Given the description of an element on the screen output the (x, y) to click on. 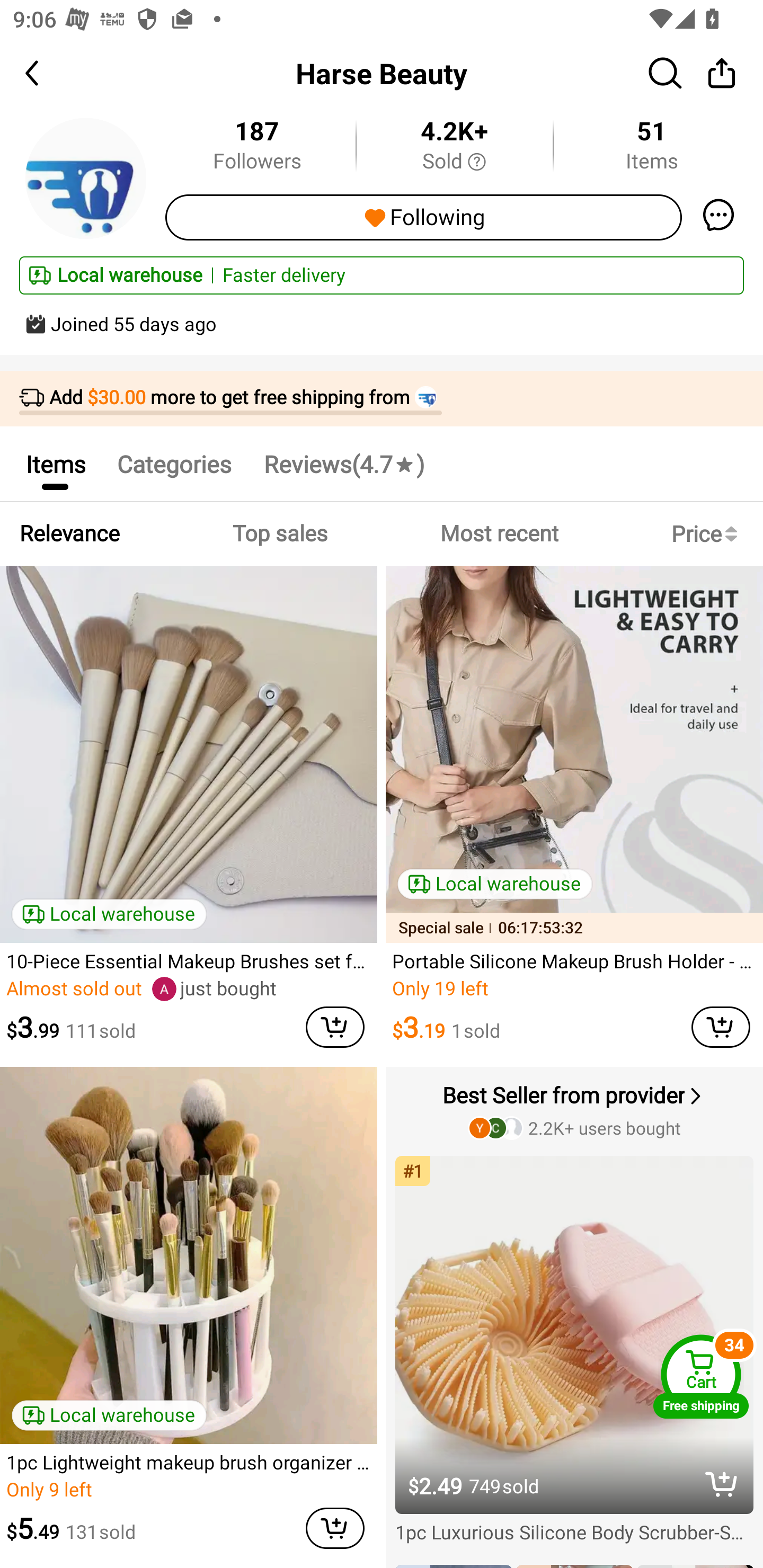
back (47, 72)
Harse Beauty (381, 72)
share (721, 72)
Sold (453, 161)
Local warehouse Faster delivery (381, 275)
 Add $30.00 more to get free shipping from  (381, 398)
Items (55, 463)
Categories (174, 463)
Reviews(4.7 ) (343, 463)
Relevance (69, 533)
Top sales (279, 533)
Most recent (498, 533)
Price (707, 533)
Best Seller from provider 2.2K+ users bought (576, 1109)
Cart Free shipping Cart (701, 1375)
delete (721, 1483)
